Given the description of an element on the screen output the (x, y) to click on. 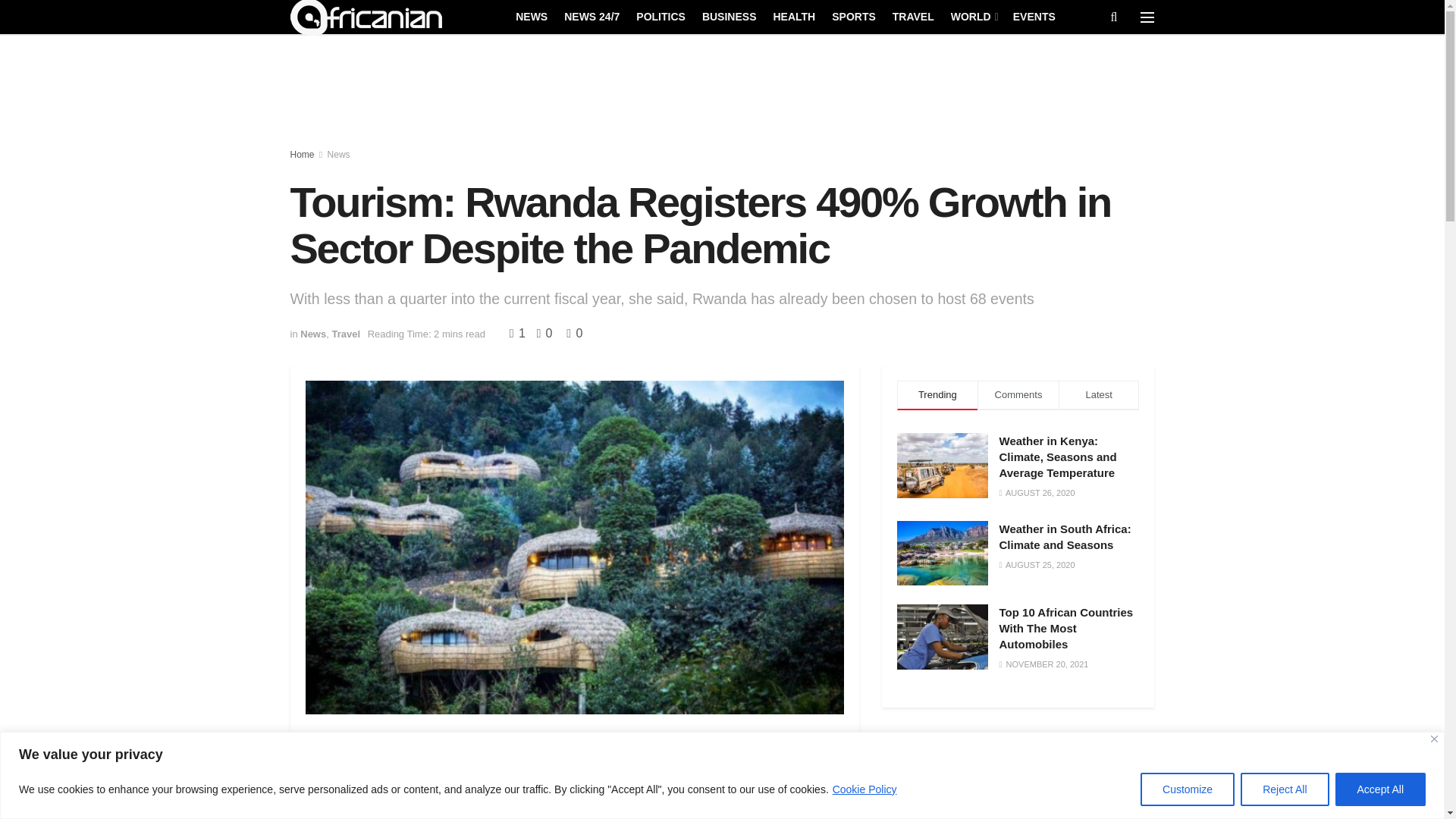
Reject All (1283, 788)
Cookie Policy (864, 789)
Accept All (1380, 788)
WORLD (972, 16)
Advertisement (1017, 774)
Home (301, 154)
SPORTS (853, 16)
EVENTS (1034, 16)
Customize (1187, 788)
HEALTH (794, 16)
